Given the description of an element on the screen output the (x, y) to click on. 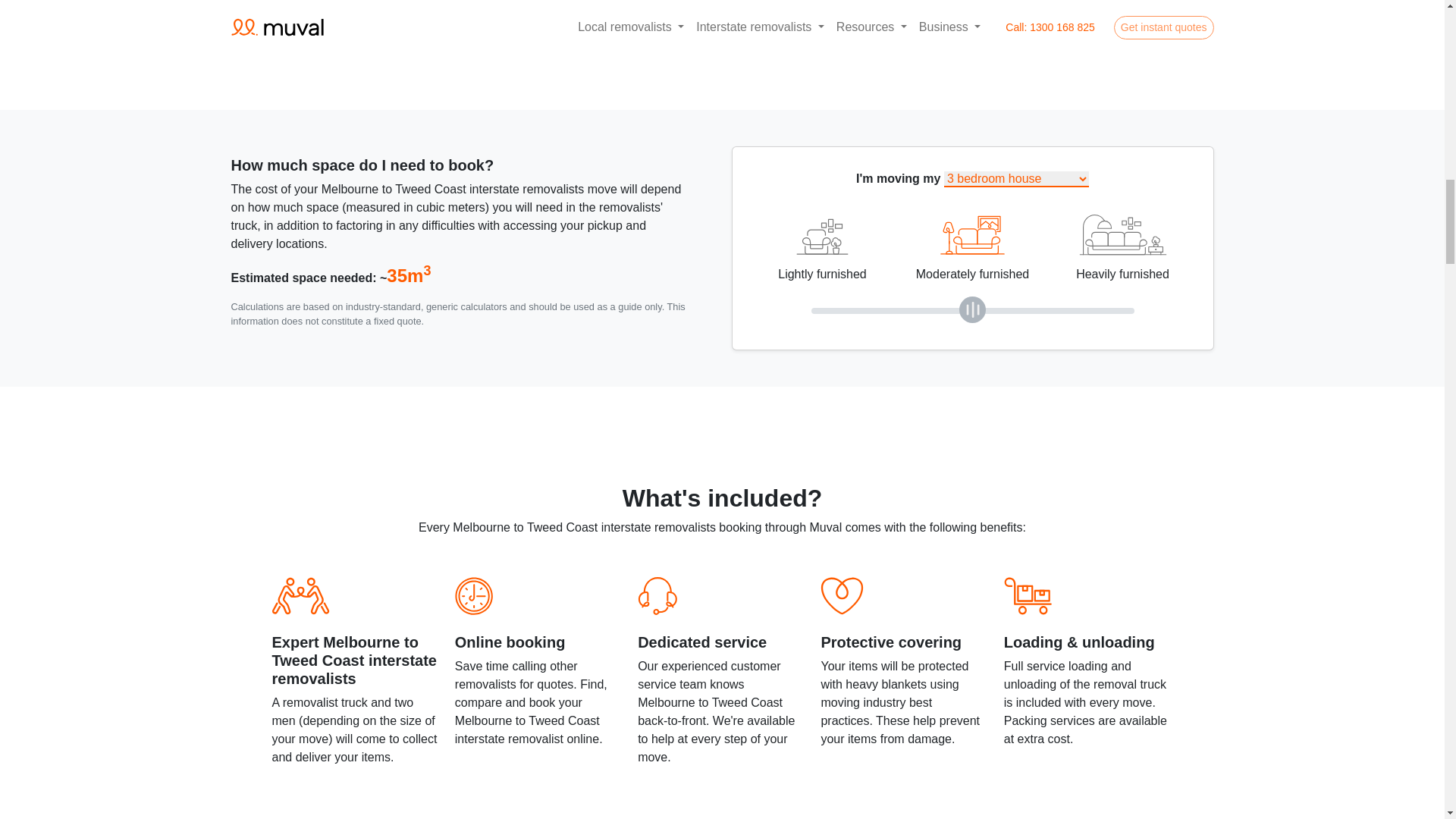
2 (972, 311)
